Given the description of an element on the screen output the (x, y) to click on. 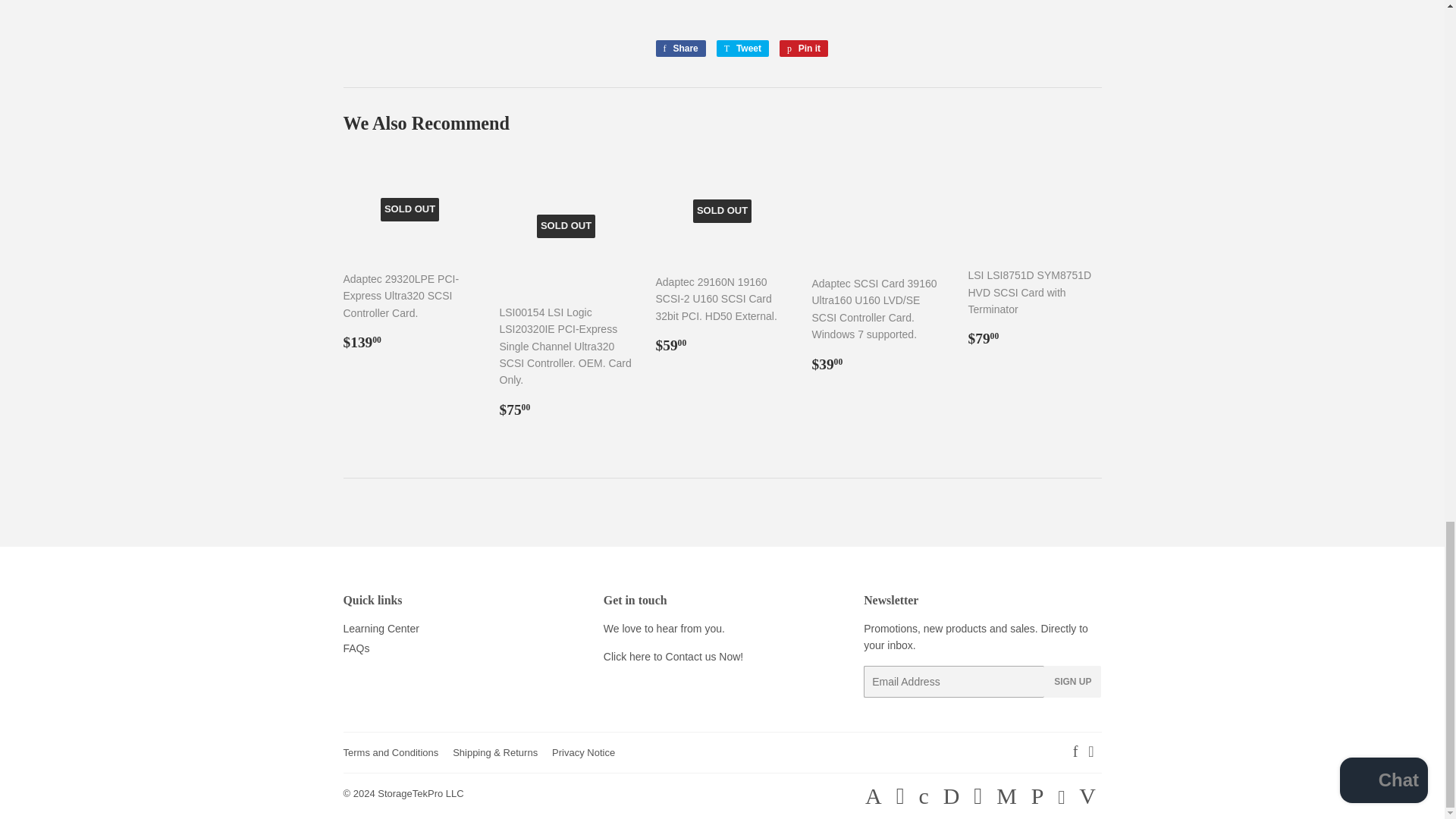
Share on Facebook (679, 48)
Pin on Pinterest (803, 48)
Contact Us (673, 656)
Tweet on Twitter (742, 48)
